Given the description of an element on the screen output the (x, y) to click on. 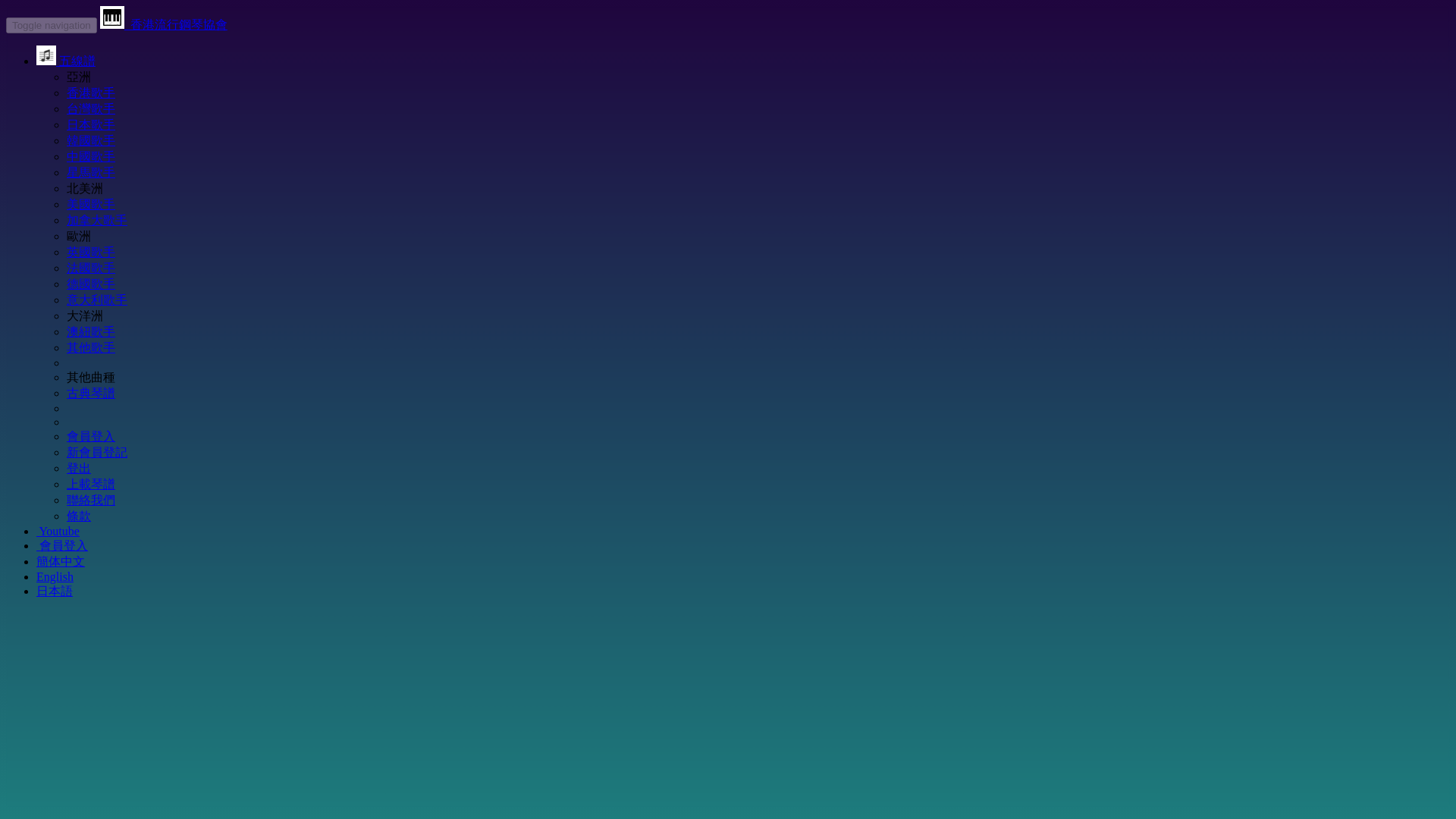
English (55, 576)
 Youtube (58, 530)
Toggle navigation (51, 25)
